Given the description of an element on the screen output the (x, y) to click on. 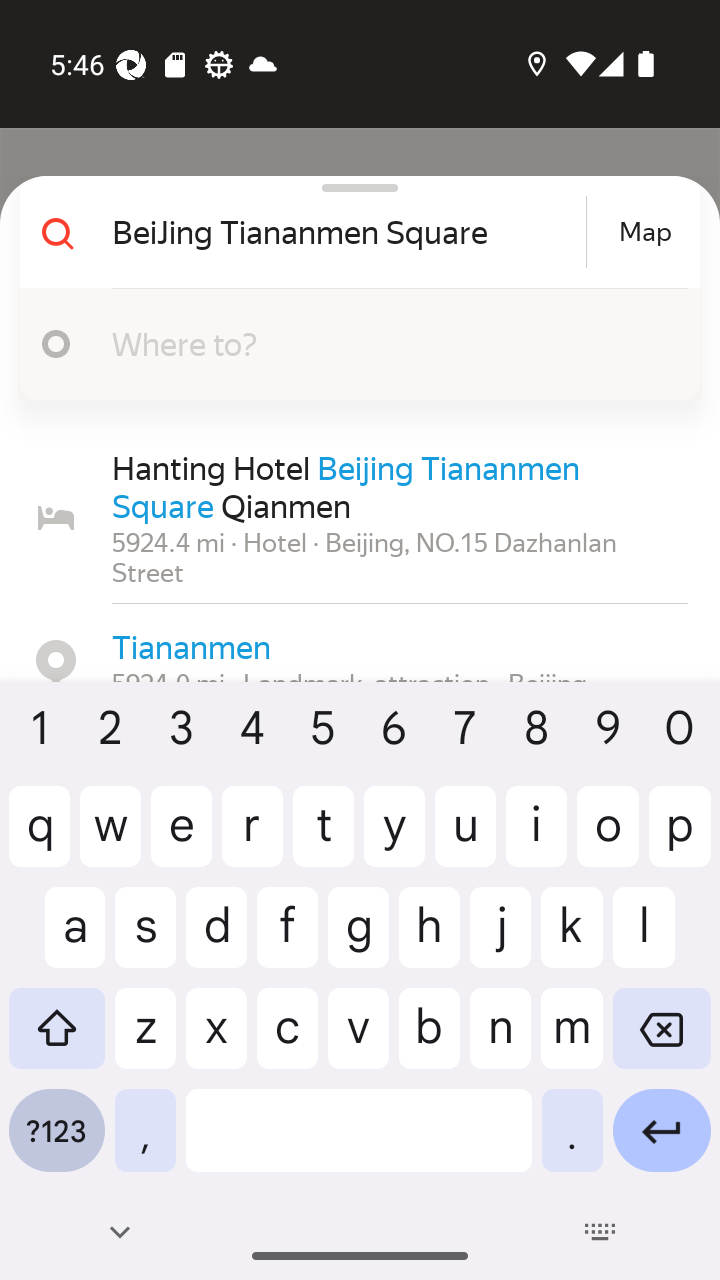
BeiJing Tiananmen Square Map Map (352, 232)
Map (645, 232)
BeiJing Tiananmen Square (346, 232)
Where to? (352, 343)
Where to? (390, 343)
